Given the description of an element on the screen output the (x, y) to click on. 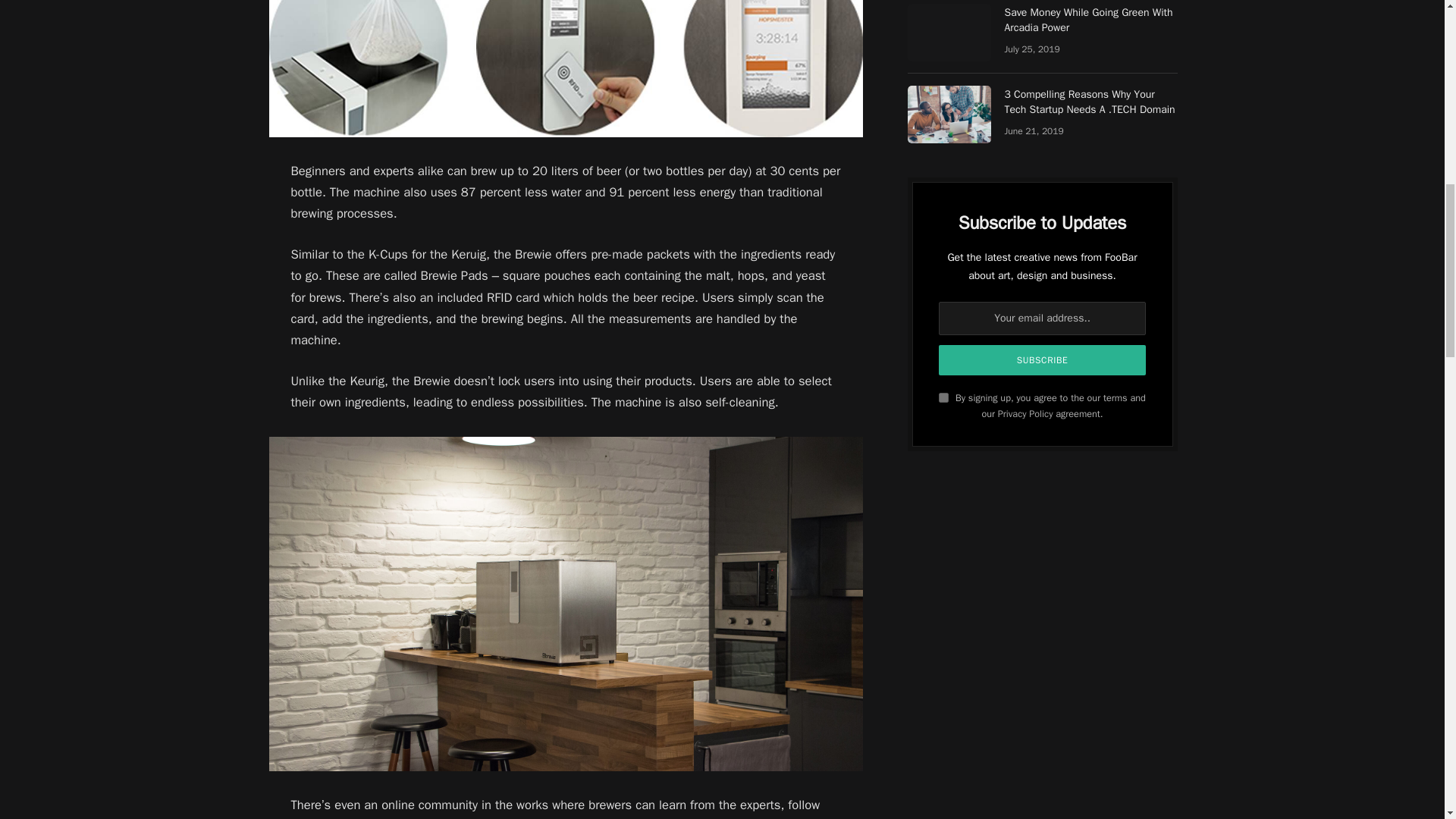
Beer XML (705, 818)
on (944, 397)
Subscribe (1043, 359)
